Given the description of an element on the screen output the (x, y) to click on. 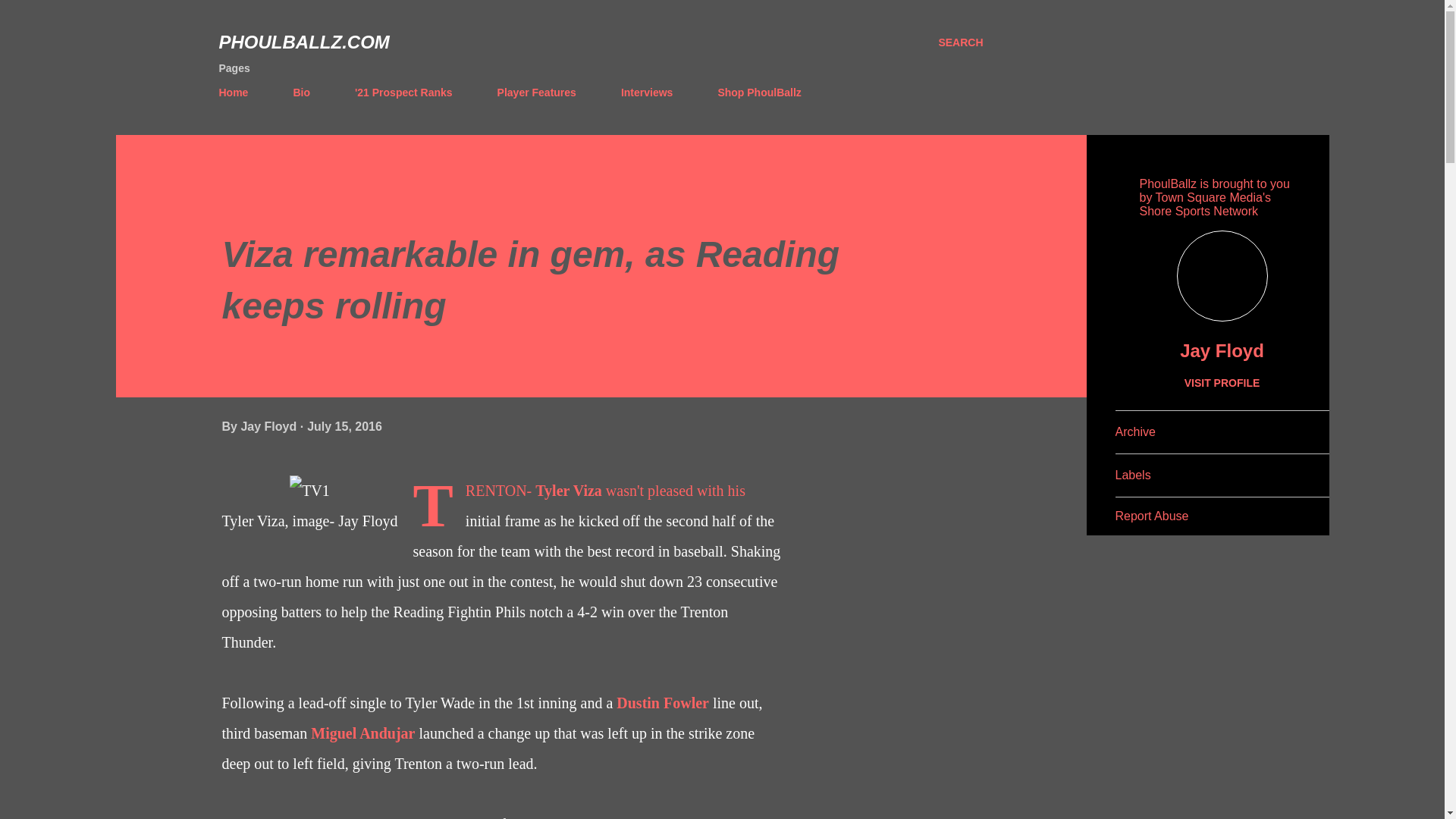
Tyler Viza (568, 490)
PHOULBALLZ.COM (303, 41)
Player Features (536, 91)
Miguel Andujar (362, 733)
Bio (300, 91)
July 15, 2016 (344, 426)
'21 Prospect Ranks (403, 91)
author profile (269, 426)
SEARCH (959, 42)
Dustin Fowler (662, 702)
